Given the description of an element on the screen output the (x, y) to click on. 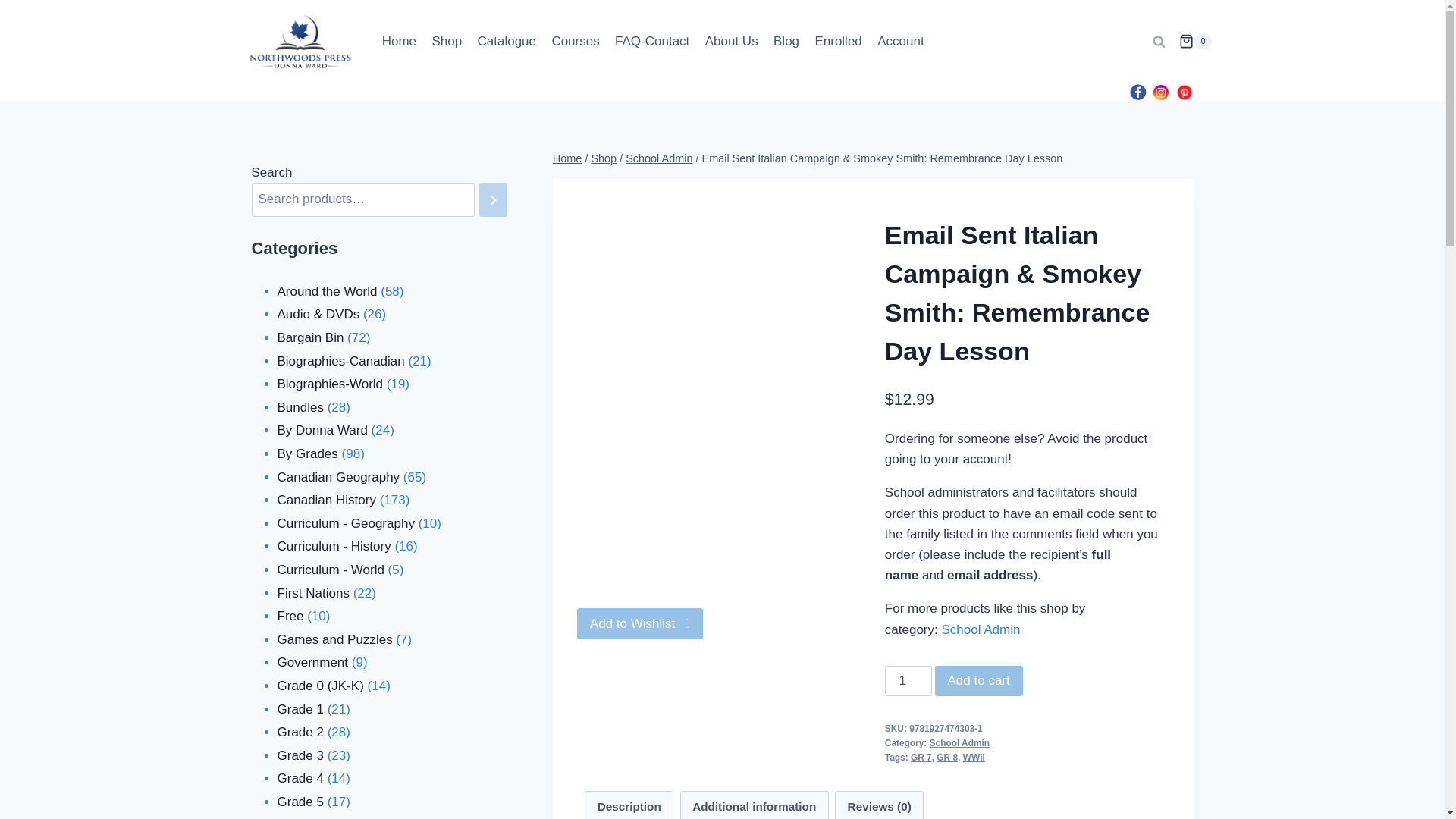
Account (900, 41)
School Admin (659, 158)
Courses (575, 41)
WWII (973, 757)
School Admin (960, 742)
Description (628, 805)
1 (908, 680)
Shop (445, 41)
Additional information (754, 805)
GR 8 (947, 757)
